Given the description of an element on the screen output the (x, y) to click on. 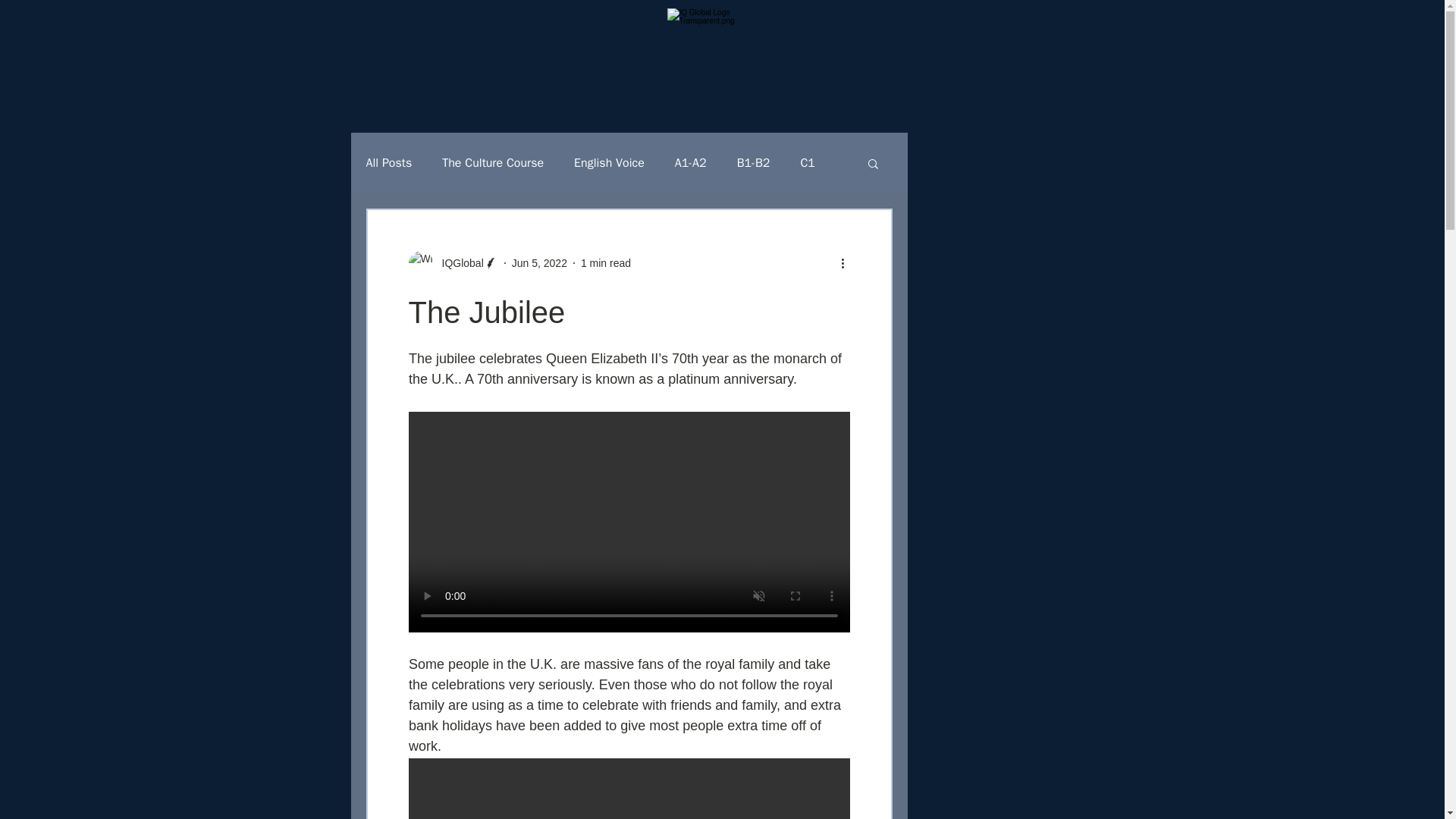
The Culture Course (492, 162)
IQGlobal (457, 262)
English Voice (609, 162)
A1-A2 (690, 162)
1 min read (605, 262)
All Posts (388, 162)
IQGlobal (452, 262)
Jun 5, 2022 (539, 262)
C1 (807, 162)
B1-B2 (753, 162)
